Given the description of an element on the screen output the (x, y) to click on. 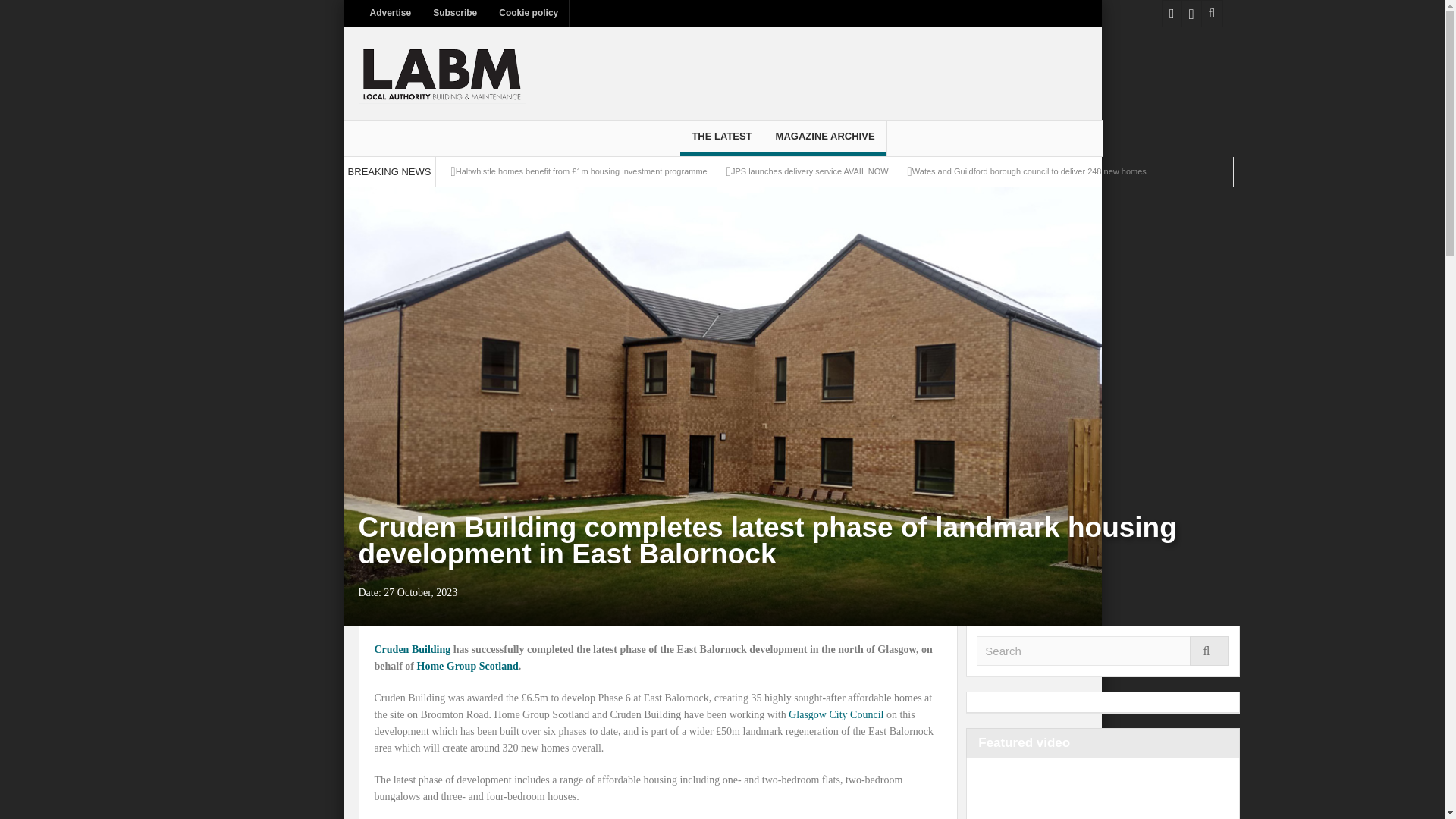
Subscribe (454, 13)
Home Group Scotland (467, 665)
labm (441, 72)
Advertise (390, 13)
Search for: (1102, 650)
MAGAZINE ARCHIVE (825, 138)
Glasgow City Council (836, 714)
THE LATEST (720, 138)
Cruden Building (412, 649)
YouTube video player (1090, 793)
Search (1102, 650)
Cookie policy (528, 13)
JPS launches delivery service AVAIL NOW (809, 171)
Search (1102, 650)
Wates and Guildford borough council to deliver 248 new homes (1029, 171)
